Given the description of an element on the screen output the (x, y) to click on. 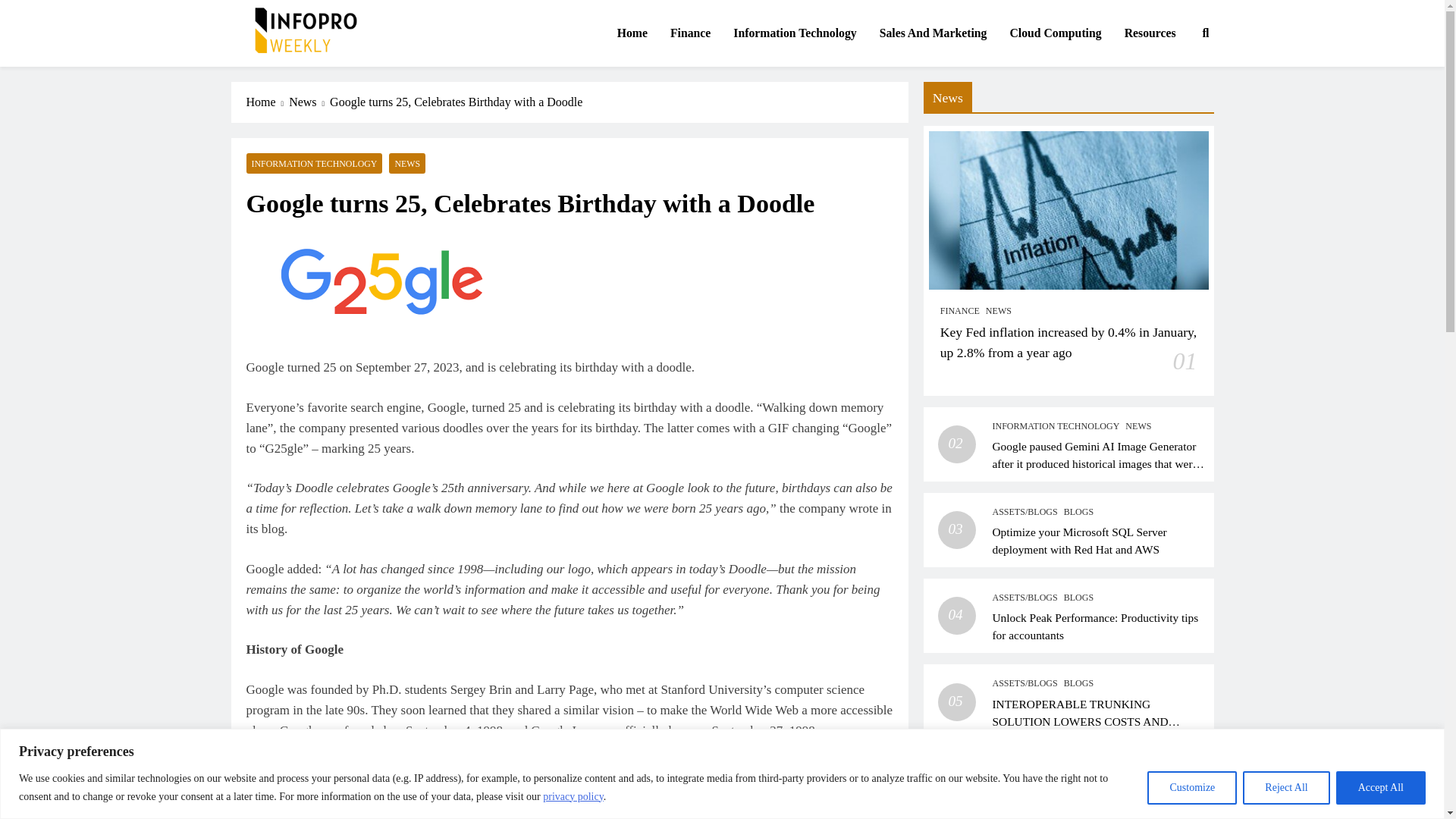
Cloud Computing (1054, 33)
Home (267, 102)
Home (632, 33)
INFORMATION TECHNOLOGY (313, 163)
News (309, 102)
Information Technology (794, 33)
Finance (690, 33)
Sales And Marketing (932, 33)
Accept All (1380, 786)
NEWS (406, 163)
privacy policy (573, 795)
Resources (1150, 33)
Reject All (1286, 786)
InfoProWeekly (306, 76)
Customize (1191, 786)
